Given the description of an element on the screen output the (x, y) to click on. 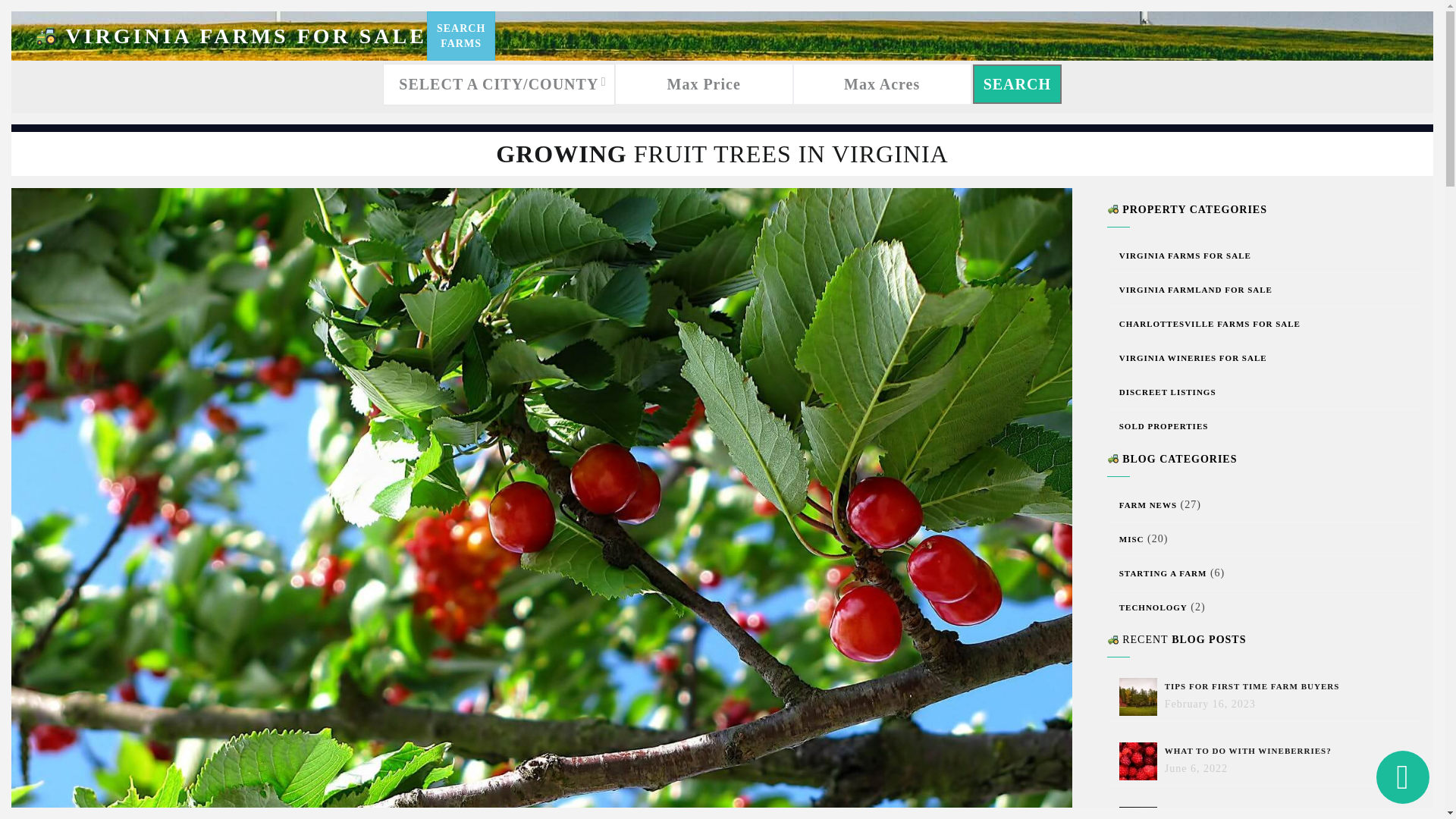
SOLD PROPERTIES (1163, 425)
VIRGINIA FARMLAND FOR SALE (1195, 289)
VIRGINIA FARMS FOR SALE (229, 35)
VIRGINIA FARMS FOR SALE (1184, 255)
STARTING A FARM (1163, 573)
Search (1016, 84)
What to do with Wineberries? (1141, 761)
DISCREET LISTINGS (1167, 391)
TECHNOLOGY (1153, 606)
CHARLOTTESVILLE FARMS FOR SALE (1209, 323)
TIPS FOR FIRST TIME FARM BUYERS (1251, 686)
WHAT TO DO WITH WINEBERRIES? (1248, 750)
VIRGINIA WINERIES FOR SALE (460, 35)
Search (1192, 357)
